Given the description of an element on the screen output the (x, y) to click on. 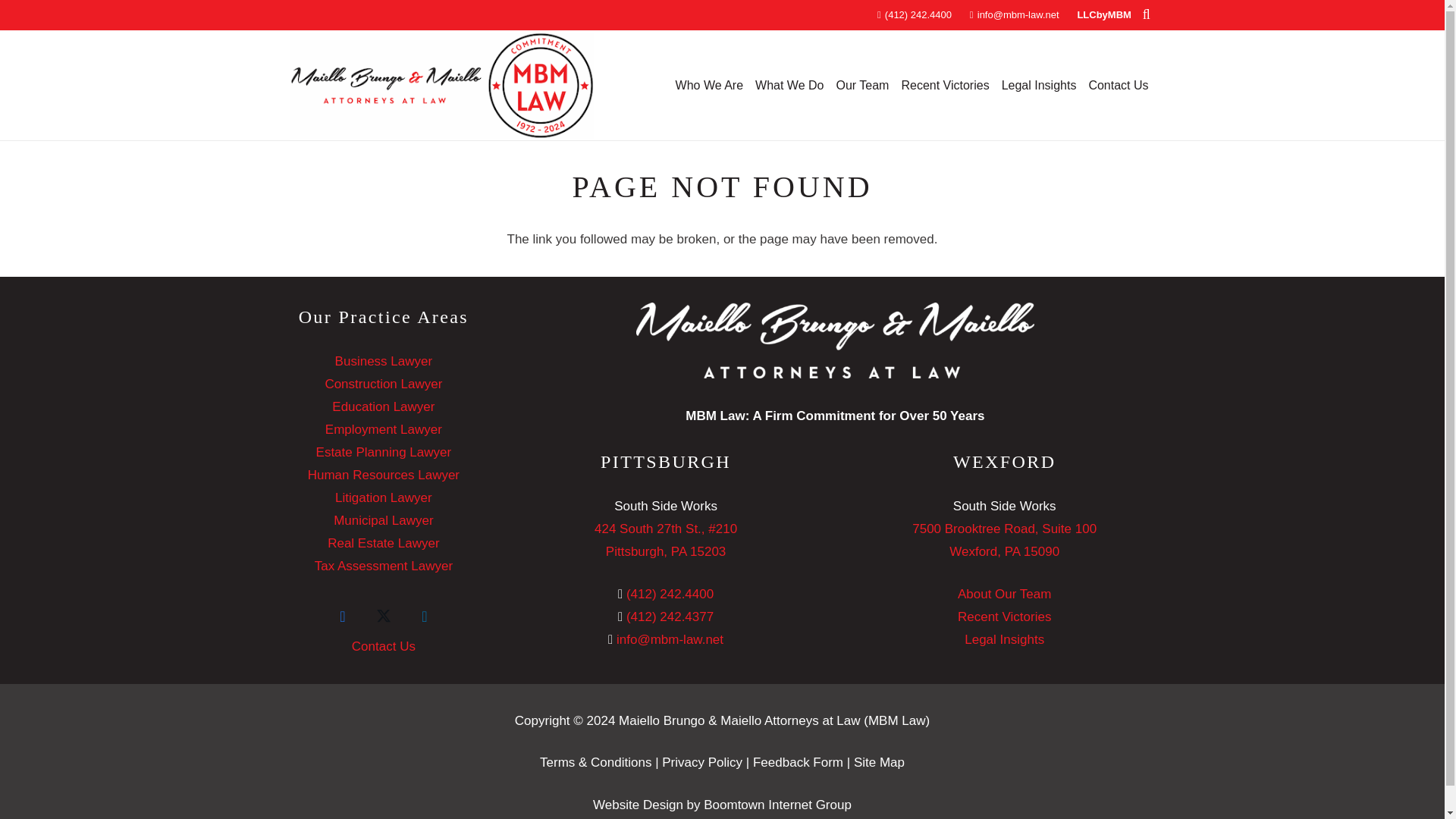
Recent Victories (944, 85)
Construction Lawyer (383, 383)
Business Lawyer (383, 360)
Twitter (384, 616)
Facebook (342, 616)
LLCbyMBM (1104, 14)
LinkedIn (425, 616)
